Given the description of an element on the screen output the (x, y) to click on. 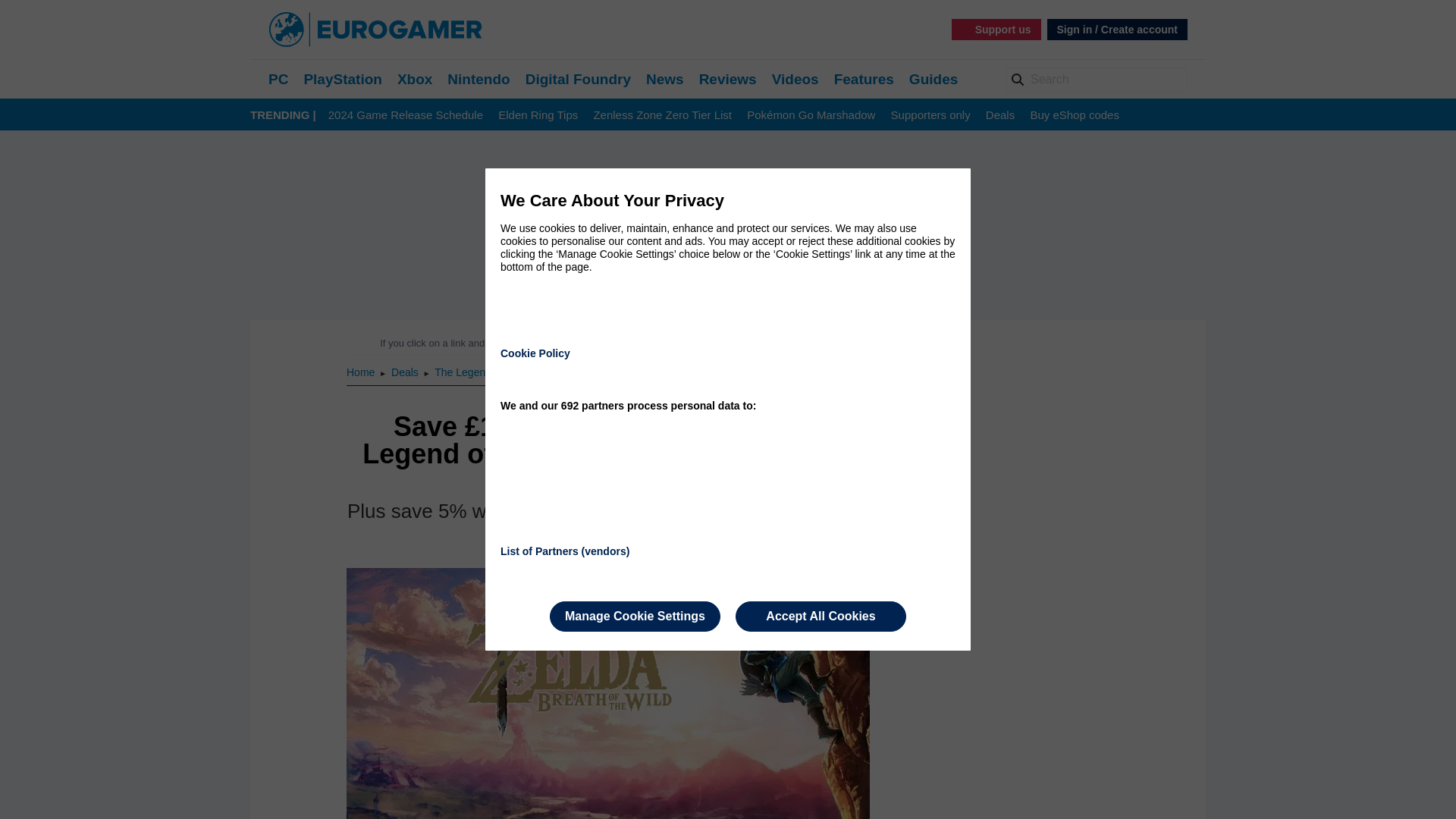
2024 Game Release Schedule (406, 114)
PlayStation (341, 78)
2024 Game Release Schedule (406, 114)
Features (863, 78)
Deals (406, 372)
Xbox (414, 78)
Videos (794, 78)
Deals (406, 372)
Features (863, 78)
The Legend of Zelda: Breath of the Wild (528, 372)
Reviews (727, 78)
Guides (933, 78)
Digital Foundry (577, 78)
Xbox (414, 78)
Home (361, 372)
